Given the description of an element on the screen output the (x, y) to click on. 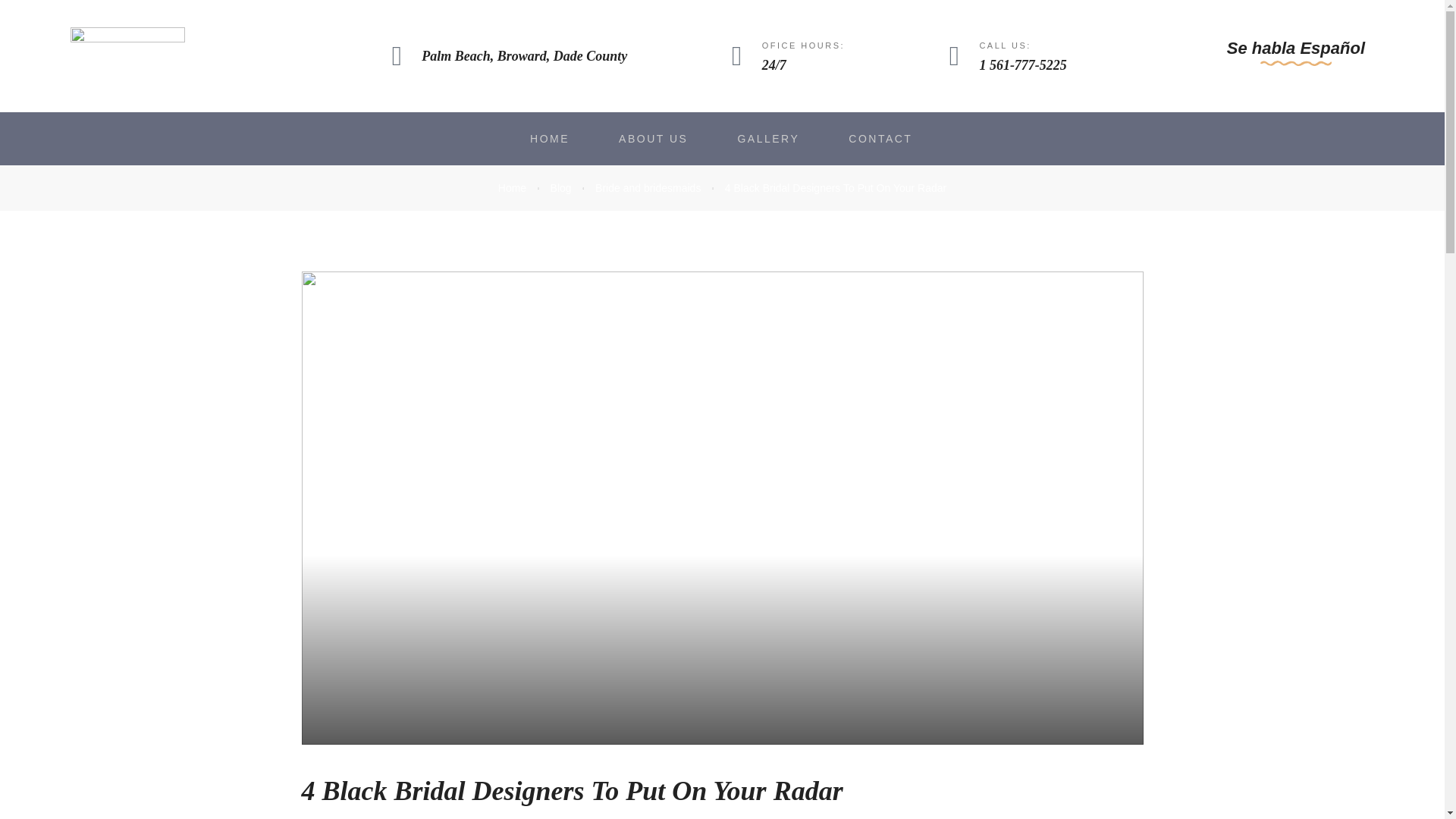
Bride and bridesmaids (647, 187)
Go to Welcome to Your Holiday Moments. (511, 187)
ABOUT US (652, 138)
GALLERY (767, 138)
CONTACT (880, 138)
Home (511, 187)
Go to the Bride and bridesmaids category archives. (647, 187)
Blog (561, 187)
Go to Blog. (561, 187)
